Given the description of an element on the screen output the (x, y) to click on. 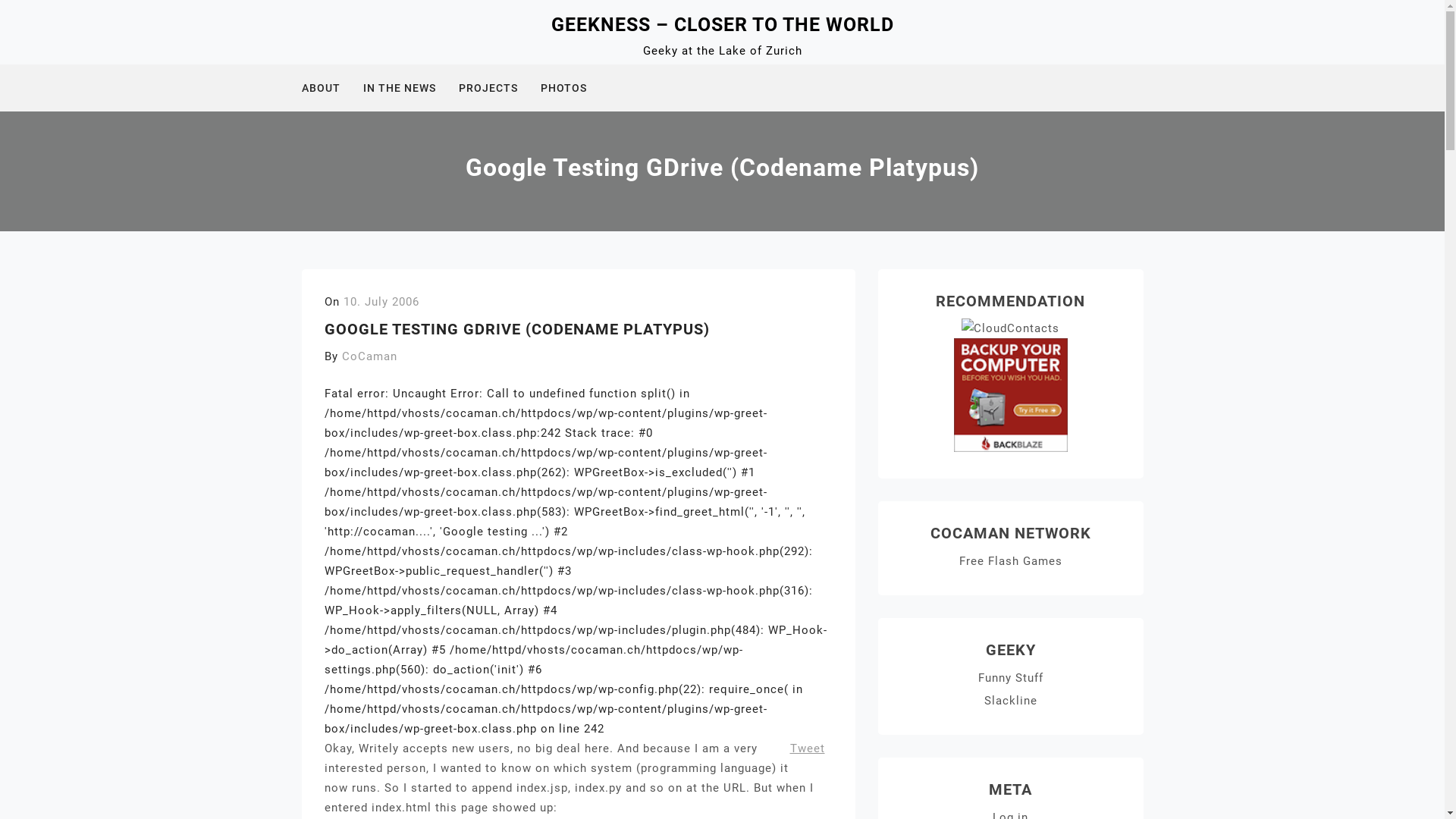
Tweet Element type: text (807, 748)
CoCaman Element type: text (368, 356)
PHOTOS Element type: text (572, 87)
ABOUT Element type: text (330, 87)
IN THE NEWS Element type: text (408, 87)
Slackline Element type: text (1010, 700)
Funny Stuff Element type: text (1010, 677)
10. July 2006 Element type: text (380, 301)
Free Flash Games Element type: text (1009, 560)
PROJECTS Element type: text (497, 87)
